Given the description of an element on the screen output the (x, y) to click on. 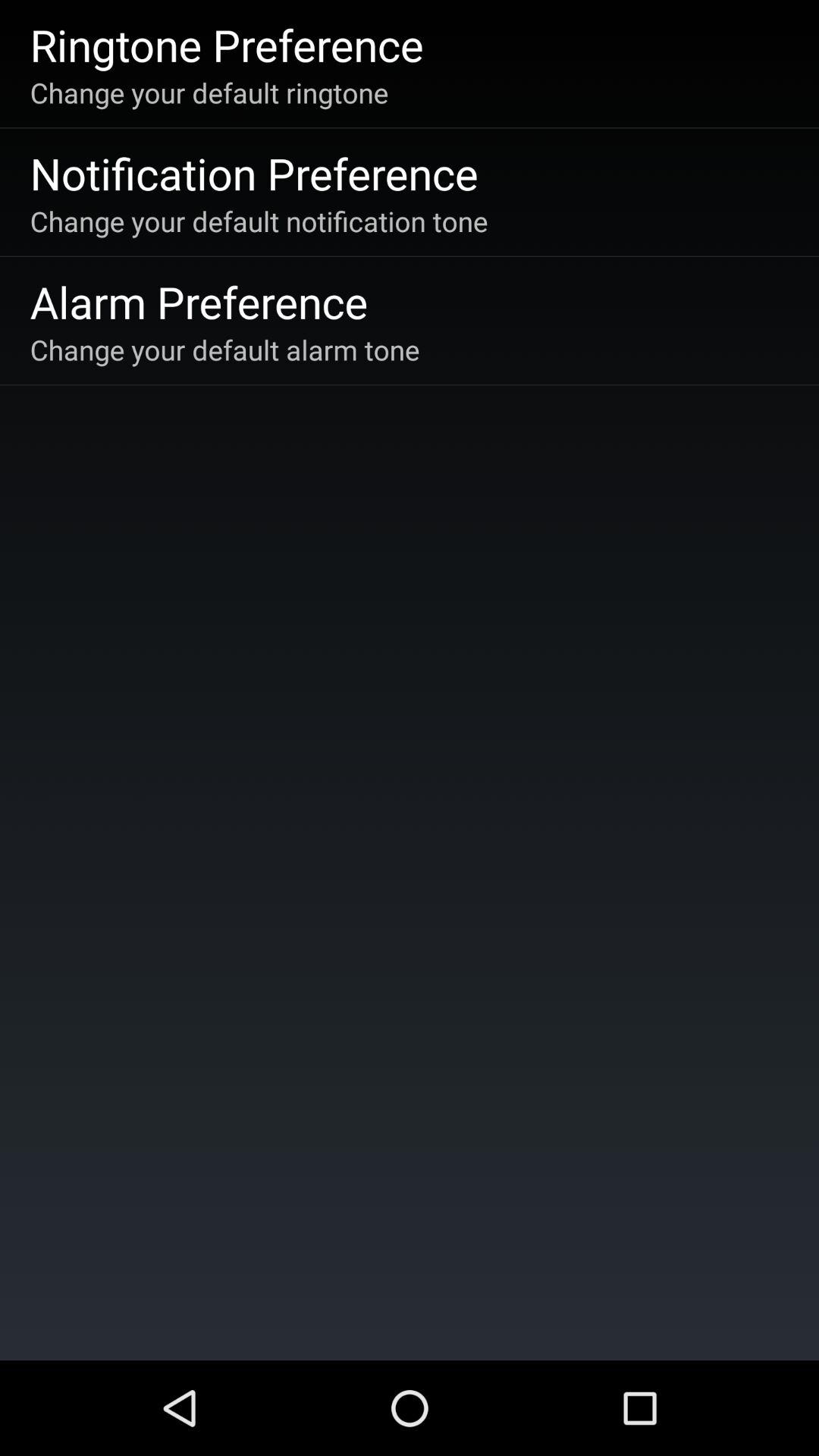
swipe until the ringtone preference app (226, 44)
